Given the description of an element on the screen output the (x, y) to click on. 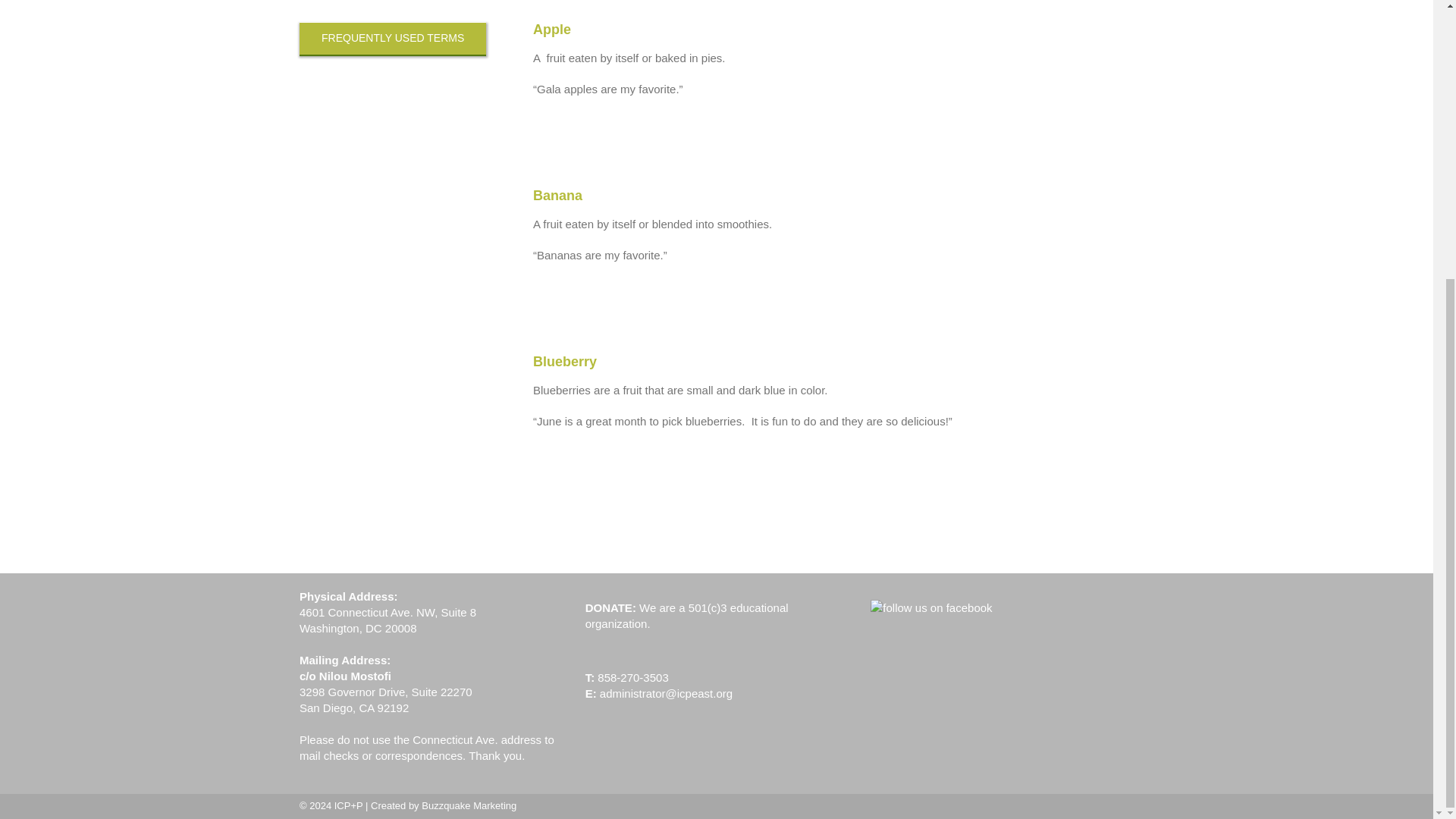
follow us on facebook (930, 607)
